Given the description of an element on the screen output the (x, y) to click on. 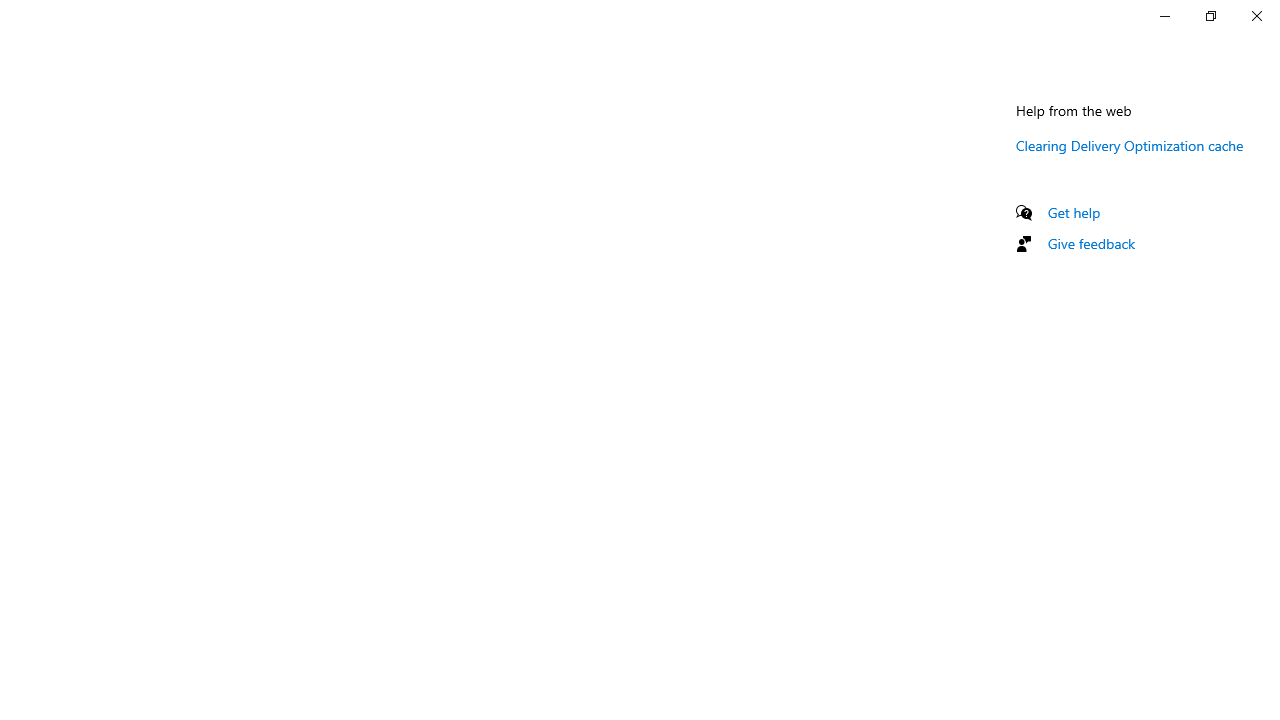
Clearing Delivery Optimization cache (1130, 145)
Give feedback (1091, 243)
Restore Settings (1210, 15)
Minimize Settings (1164, 15)
Close Settings (1256, 15)
Get help (1074, 212)
